Given the description of an element on the screen output the (x, y) to click on. 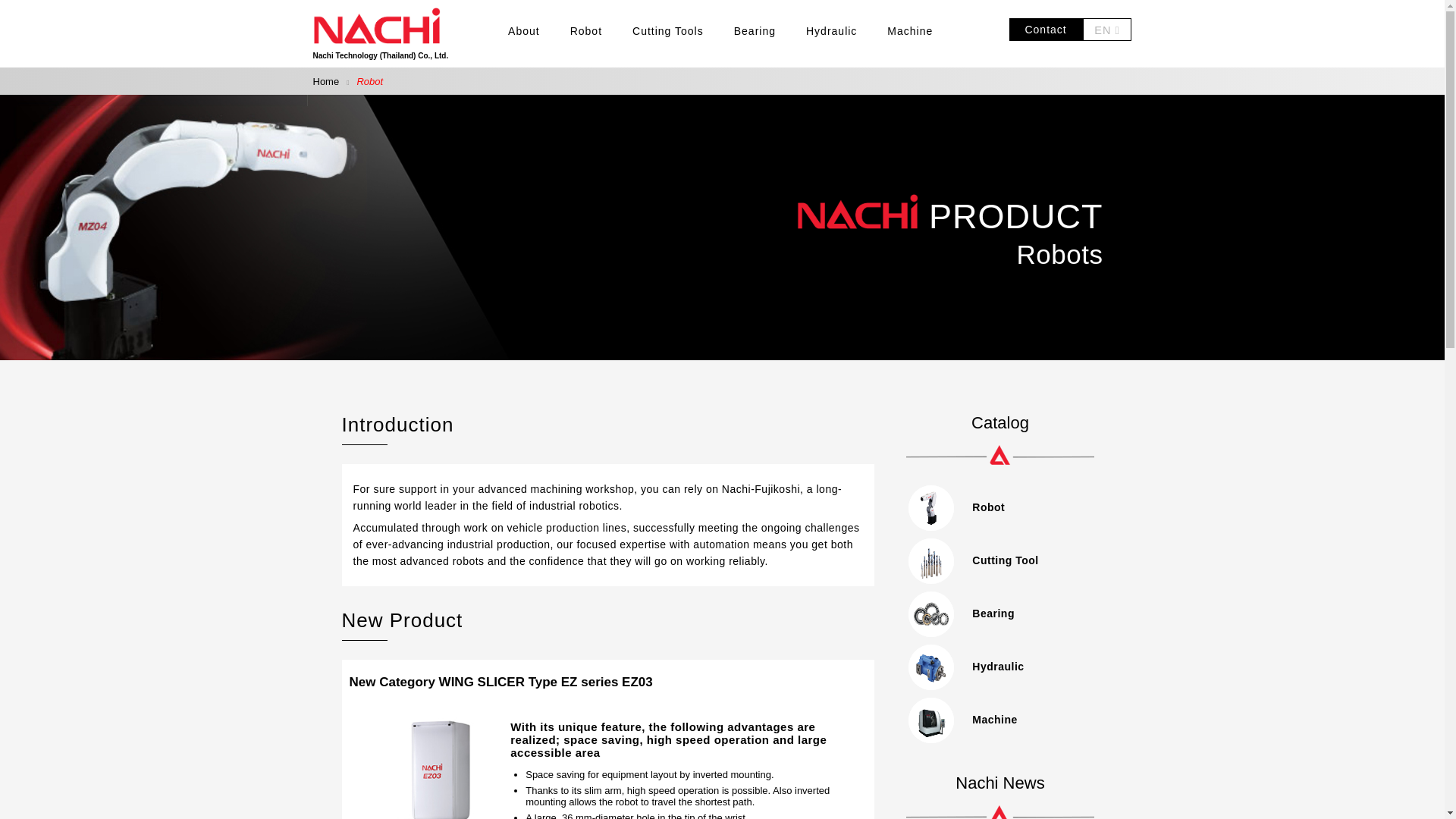
Home (326, 81)
EN (1107, 29)
Hydraulic (831, 30)
Bearing (1002, 613)
Machine (1002, 719)
Hydraulic (1002, 666)
Contact (1045, 29)
Machine (909, 30)
Robot (1002, 507)
Cutting Tool (1002, 560)
